Given the description of an element on the screen output the (x, y) to click on. 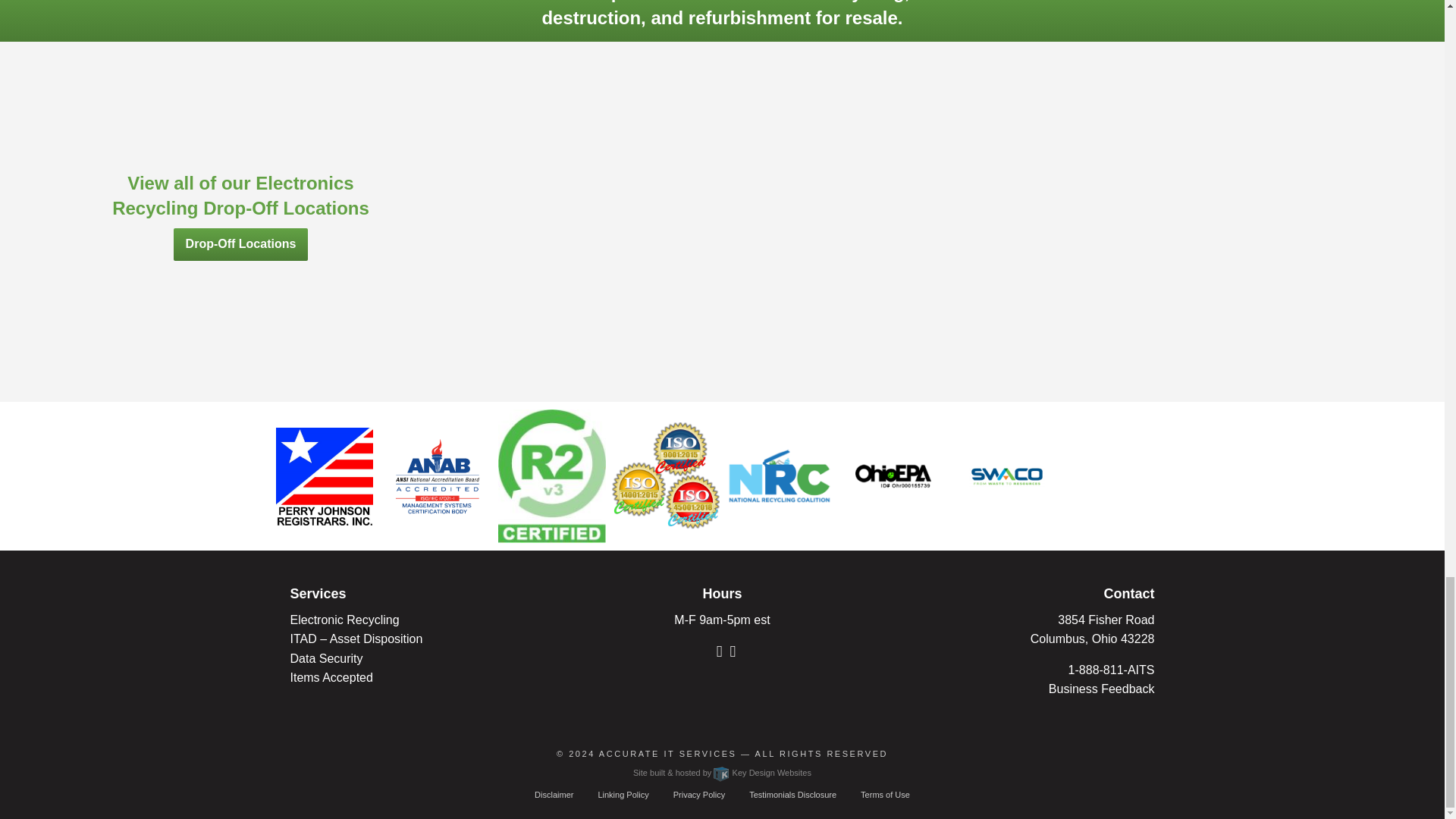
1-888-811-AITS : 1-888-811-2487 (1111, 669)
Site by Key Design Websites (721, 772)
